Given the description of an element on the screen output the (x, y) to click on. 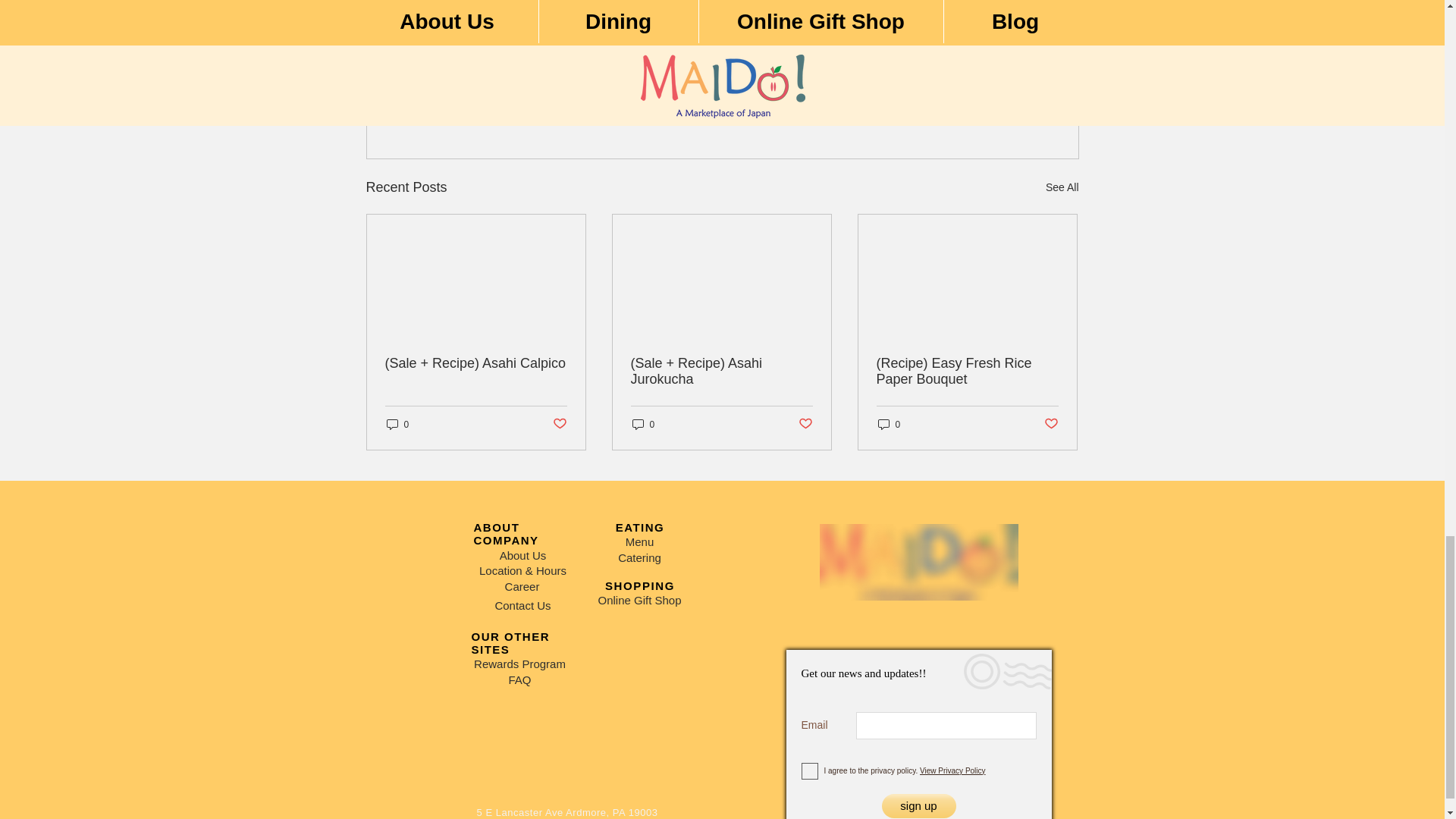
0 (990, 104)
Recipes (643, 423)
See All (983, 59)
0 (1061, 187)
Post not marked as liked (397, 423)
